Given the description of an element on the screen output the (x, y) to click on. 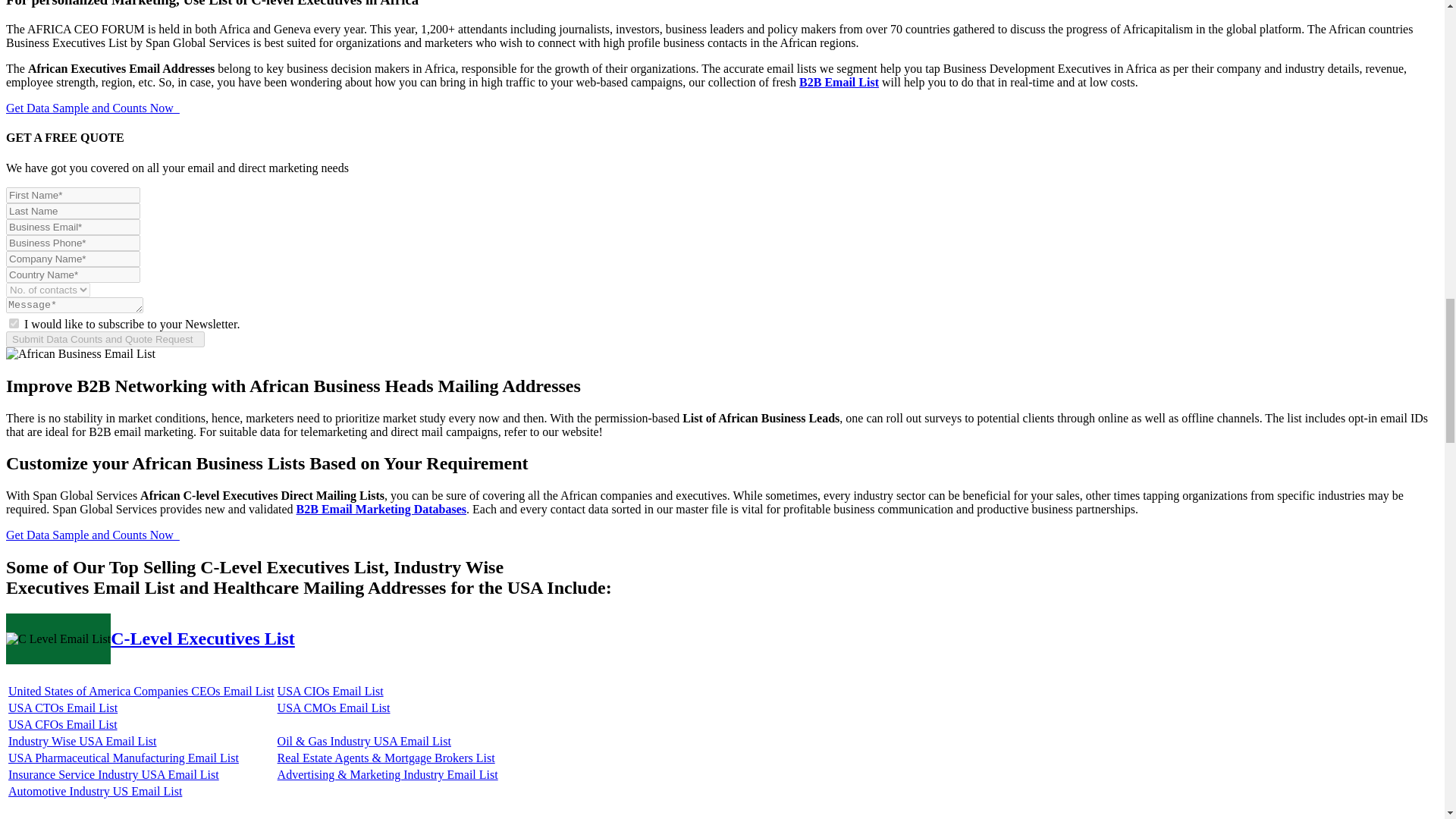
C Level Email List (57, 639)
B2B Email List (839, 82)
newslettersubscribe (13, 323)
B2B Email Marketing Database (381, 508)
